Given the description of an element on the screen output the (x, y) to click on. 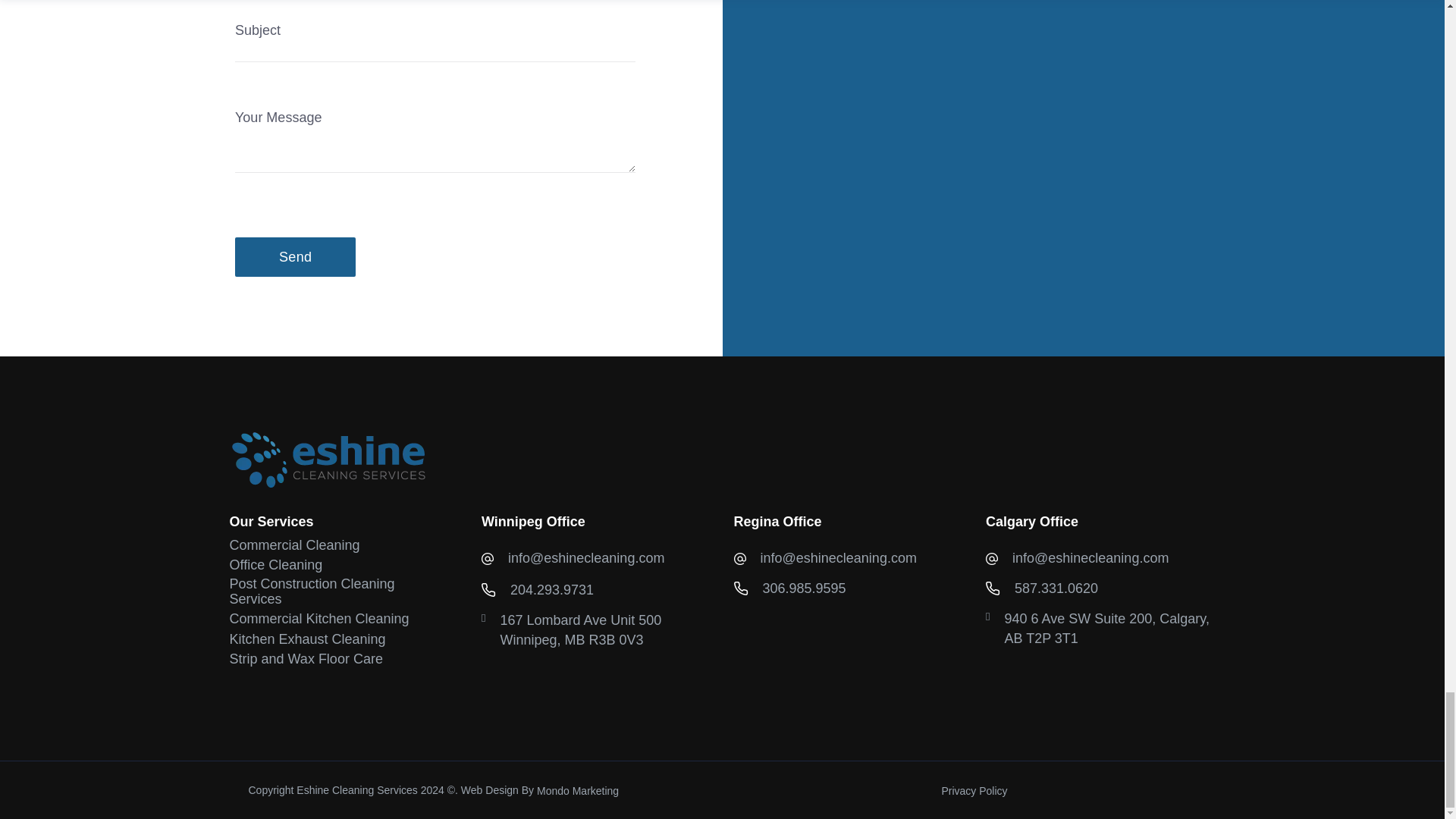
Web Design By Mondo Marketing (577, 790)
